Given the description of an element on the screen output the (x, y) to click on. 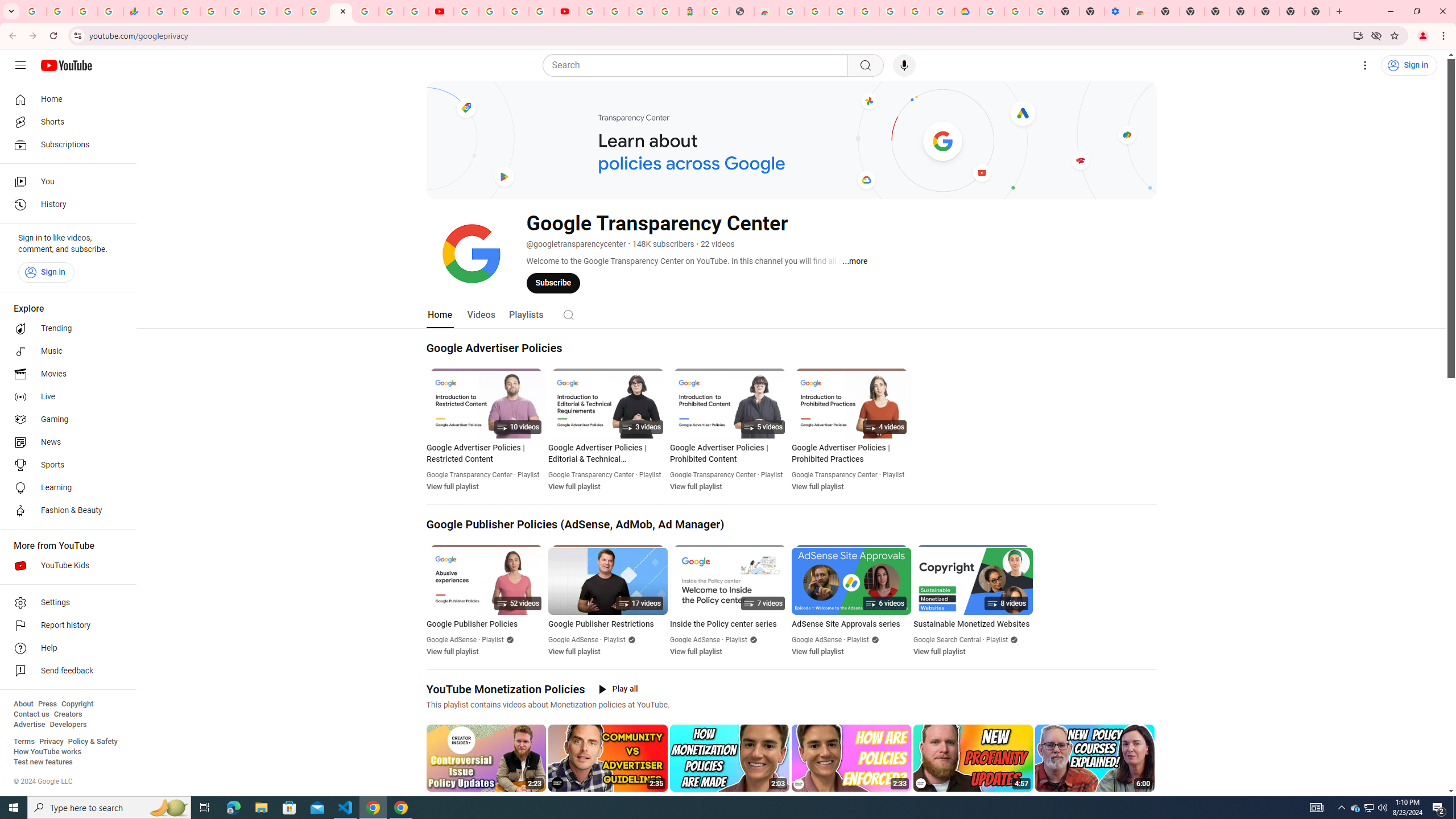
Sports (64, 464)
Test new features (42, 761)
YouTube Monetization Policies (505, 688)
New Tab (1166, 11)
Play all (618, 688)
Learning (64, 487)
Google Transparency Center - YouTube (340, 11)
Ad Settings (816, 11)
Google Account Help (491, 11)
Policy & Safety (91, 741)
Chrome Web Store - Accessibility extensions (1141, 11)
